Given the description of an element on the screen output the (x, y) to click on. 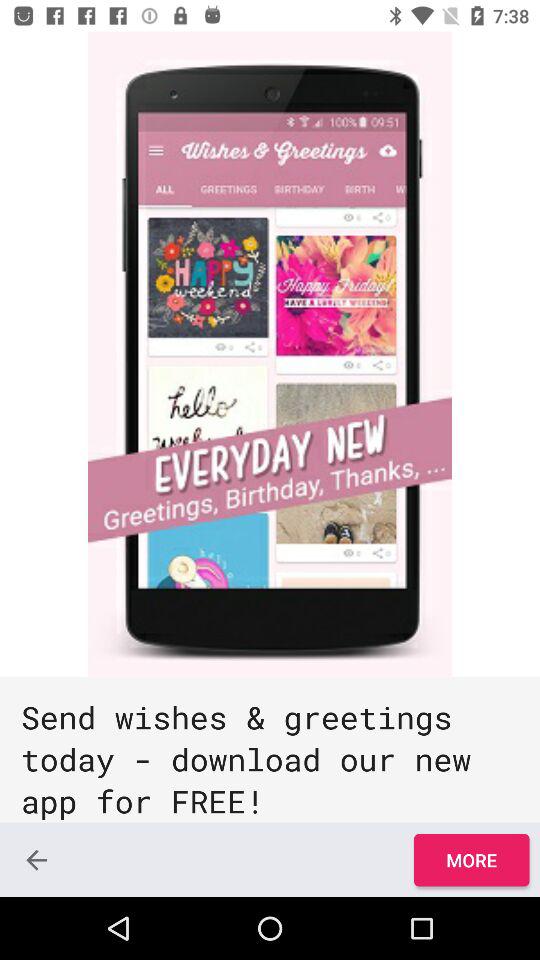
click icon at the bottom right corner (471, 859)
